Given the description of an element on the screen output the (x, y) to click on. 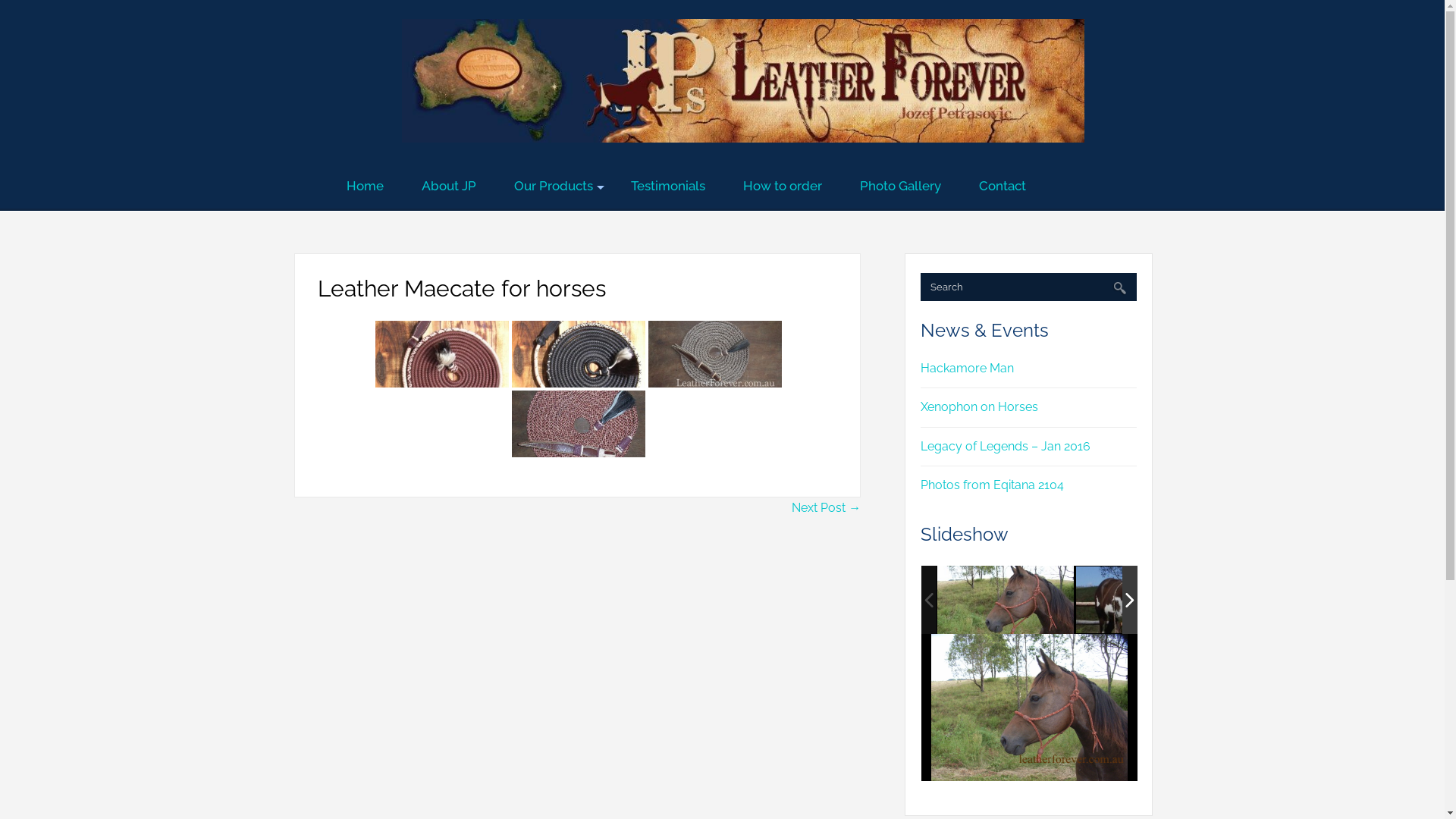
Home Element type: text (364, 186)
Photos from Eqitana 2104 Element type: text (991, 484)
How to order Element type: text (782, 186)
Testimonials Element type: text (668, 186)
Mecate 046 Element type: hover (578, 354)
Mecate 016 Element type: hover (578, 424)
038 (1)   Element type: hover (1144, 599)
042   Element type: hover (1005, 599)
Contact Element type: text (1002, 186)
Mecate  047 Element type: hover (441, 354)
Photo Gallery Element type: text (900, 186)
Xenophon on Horses Element type: text (979, 406)
Mecate 031 Element type: hover (714, 354)
Hackamore Man Element type: text (966, 367)
About JP Element type: text (448, 186)
Our Products Element type: text (553, 186)
